Given the description of an element on the screen output the (x, y) to click on. 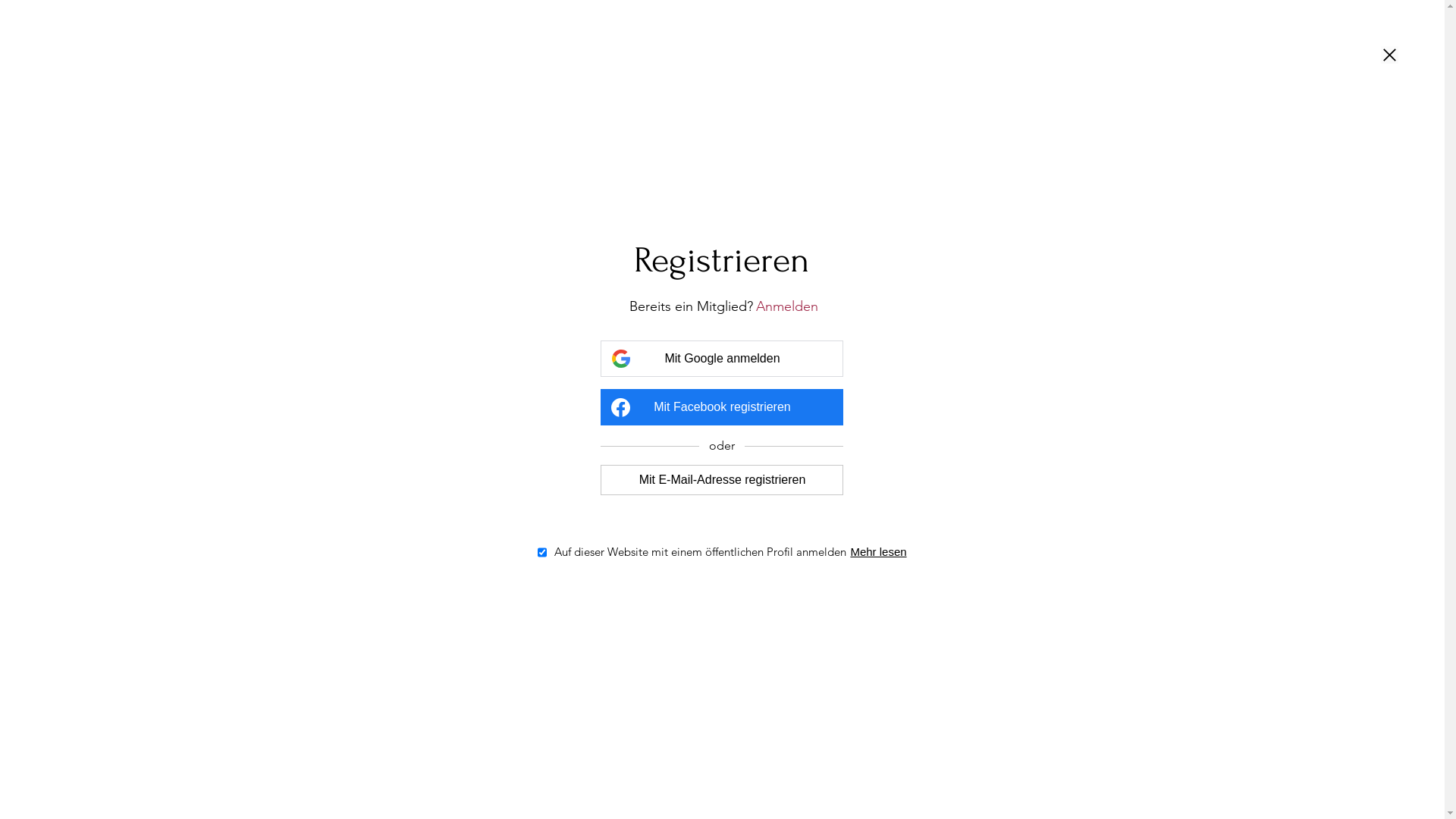
Mit Google anmelden Element type: text (721, 358)
Mehr lesen Element type: text (878, 551)
Mit Facebook registrieren Element type: text (721, 407)
Anmelden Element type: text (787, 306)
Mit E-Mail-Adresse registrieren Element type: text (721, 479)
